Given the description of an element on the screen output the (x, y) to click on. 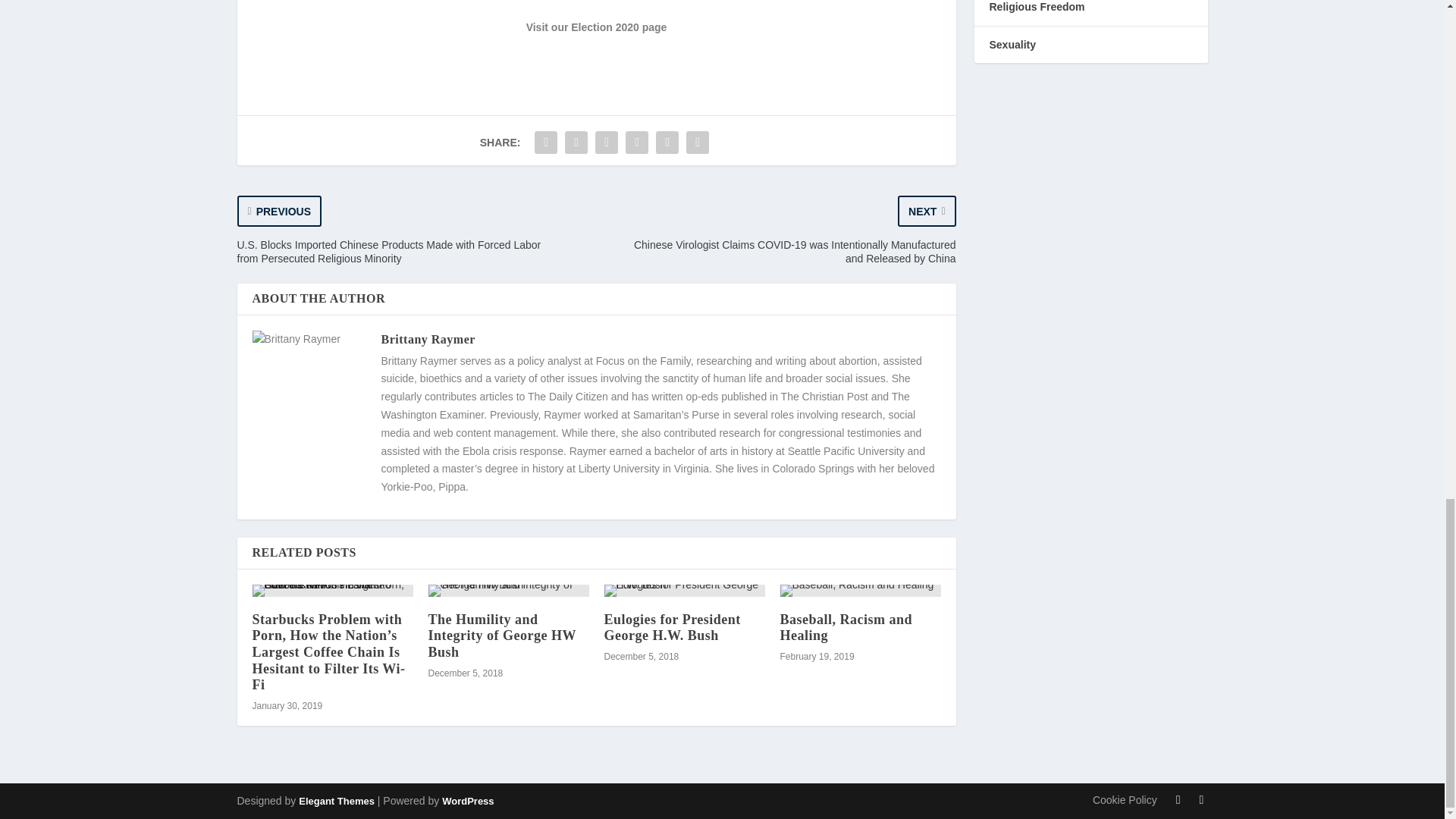
Premium WordPress Themes (336, 800)
Eulogies for President George H.W. Bush (684, 590)
Baseball, Racism and Healing (859, 590)
The Humility and Integrity of George HW Bush (508, 590)
Election 2020 (604, 27)
View all posts by Brittany Raymer (427, 338)
